Given the description of an element on the screen output the (x, y) to click on. 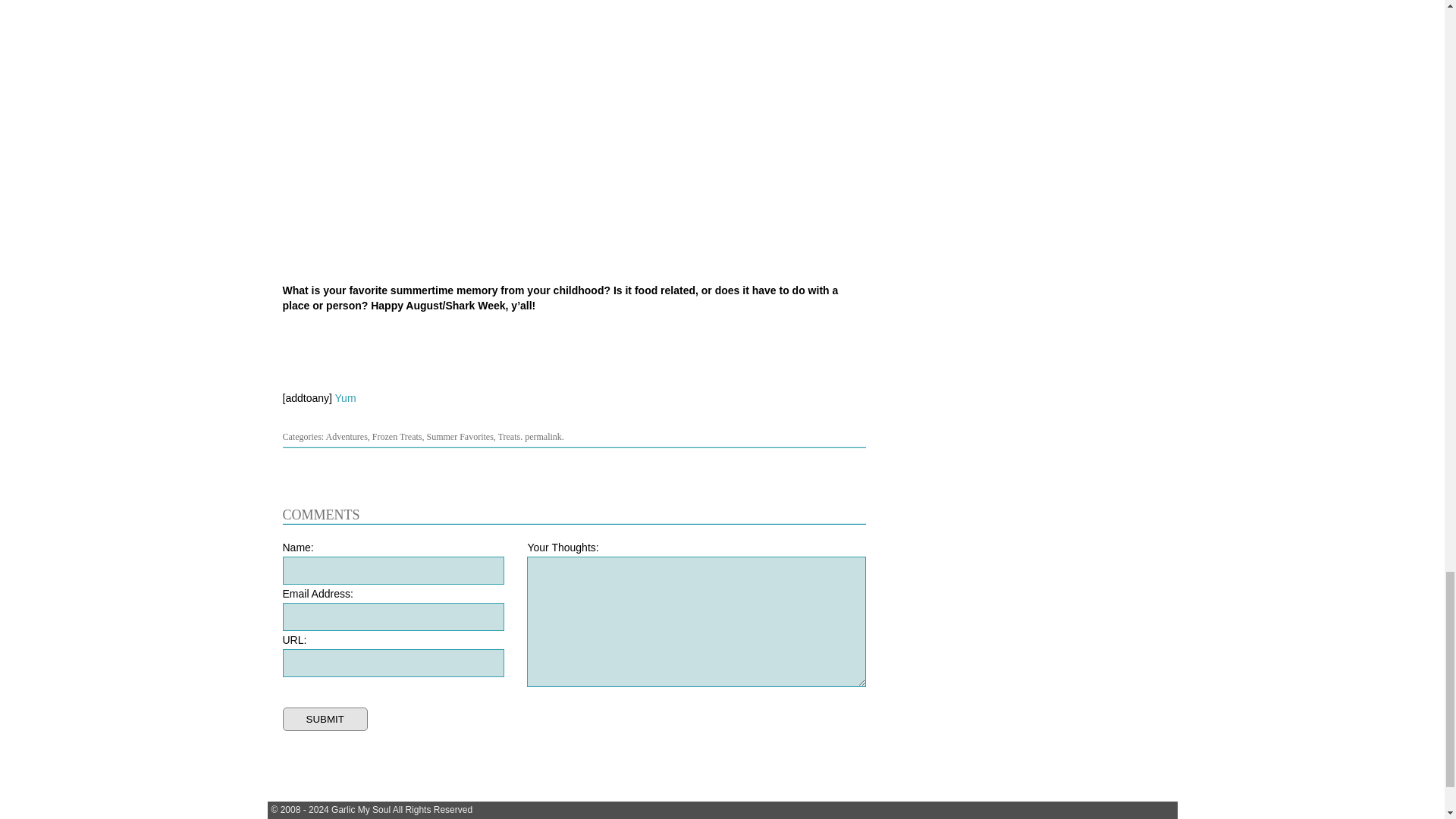
permalink (543, 436)
SUBMIT (324, 719)
Yum (345, 398)
Frozen Treats (397, 436)
Treats (509, 436)
Adventures (347, 436)
Summer Favorites (459, 436)
SUBMIT (324, 719)
Permalink Shark Week Lemon-Lime Popsicles (543, 436)
